Given the description of an element on the screen output the (x, y) to click on. 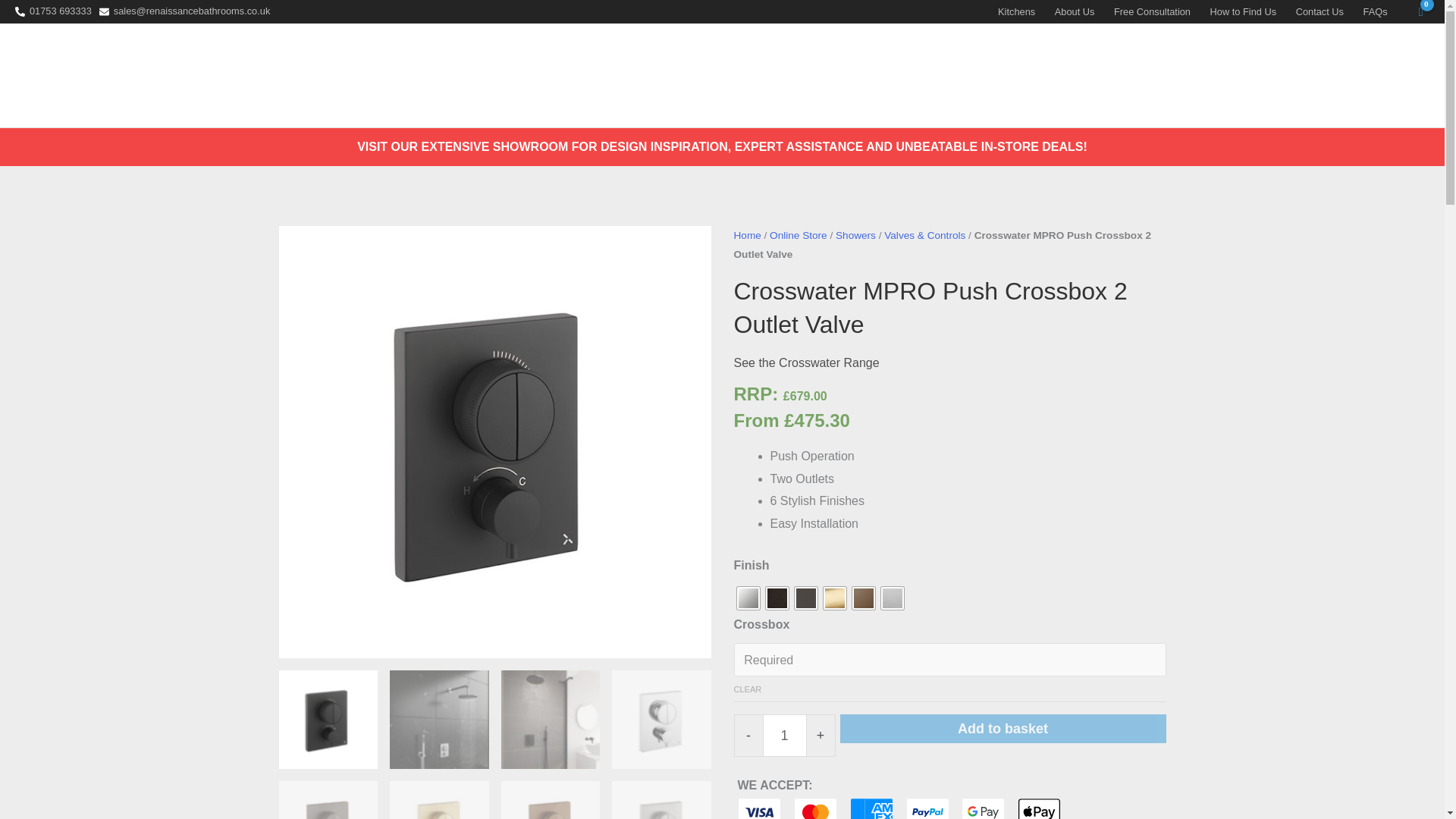
Kitchens (1016, 11)
Brushed Bronze (863, 598)
01753 693333 (52, 11)
Online Store (1015, 74)
Brushed Stainless Steel Effect (892, 598)
Contact Us (1319, 11)
Brushed Brass (834, 598)
Free Consultation (1151, 11)
Matt Black (777, 598)
Home (938, 74)
1 (784, 735)
Chrome (748, 598)
FAQs (1375, 11)
Slate (805, 598)
